Given the description of an element on the screen output the (x, y) to click on. 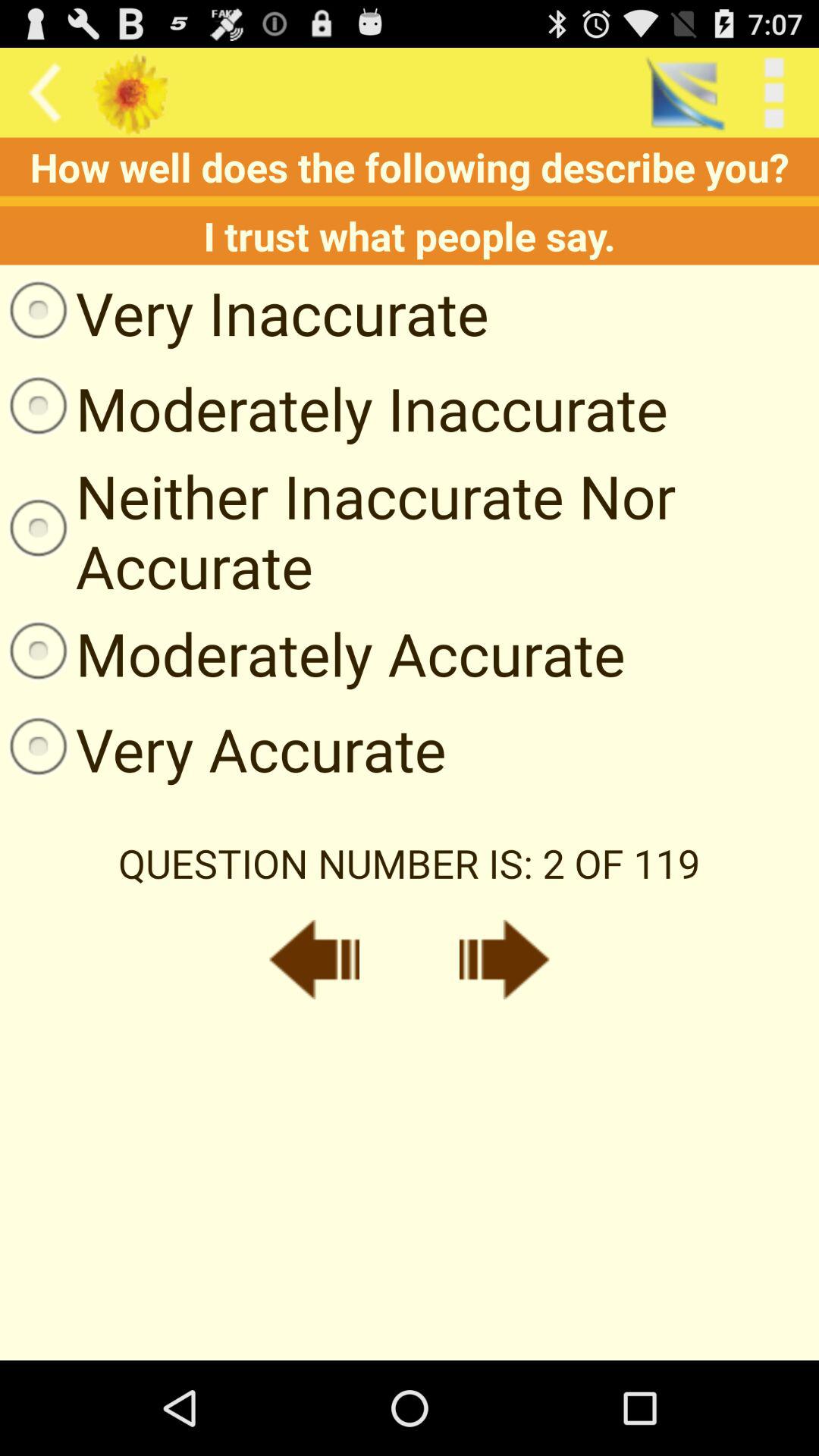
turn on the item below very inaccurate icon (334, 408)
